Given the description of an element on the screen output the (x, y) to click on. 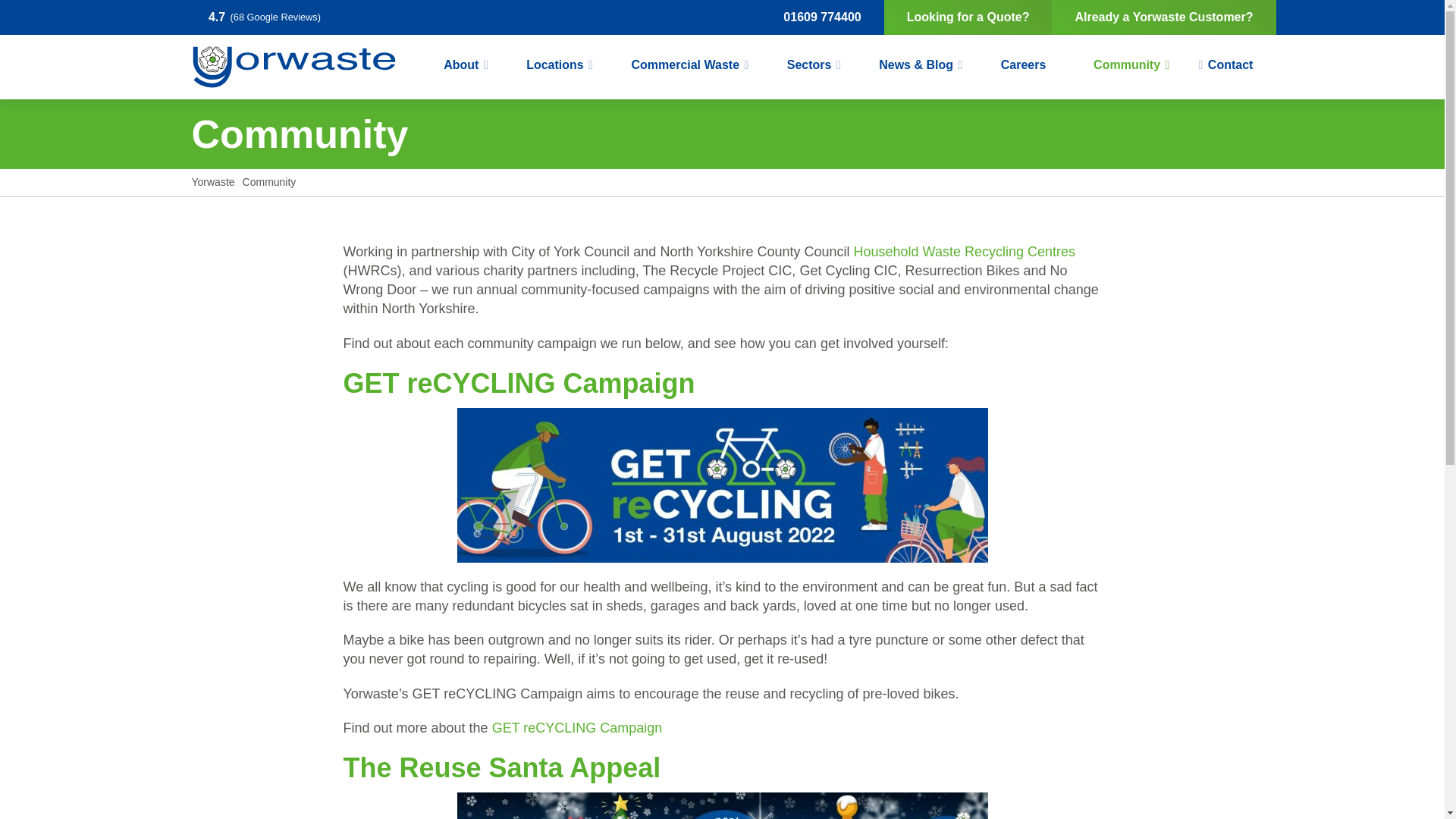
Commercial Waste (684, 64)
Looking for a Quote? (967, 17)
Locations (554, 64)
Already a Yorwaste Customer? (1163, 17)
Yorwaste (293, 66)
About (461, 64)
